Given the description of an element on the screen output the (x, y) to click on. 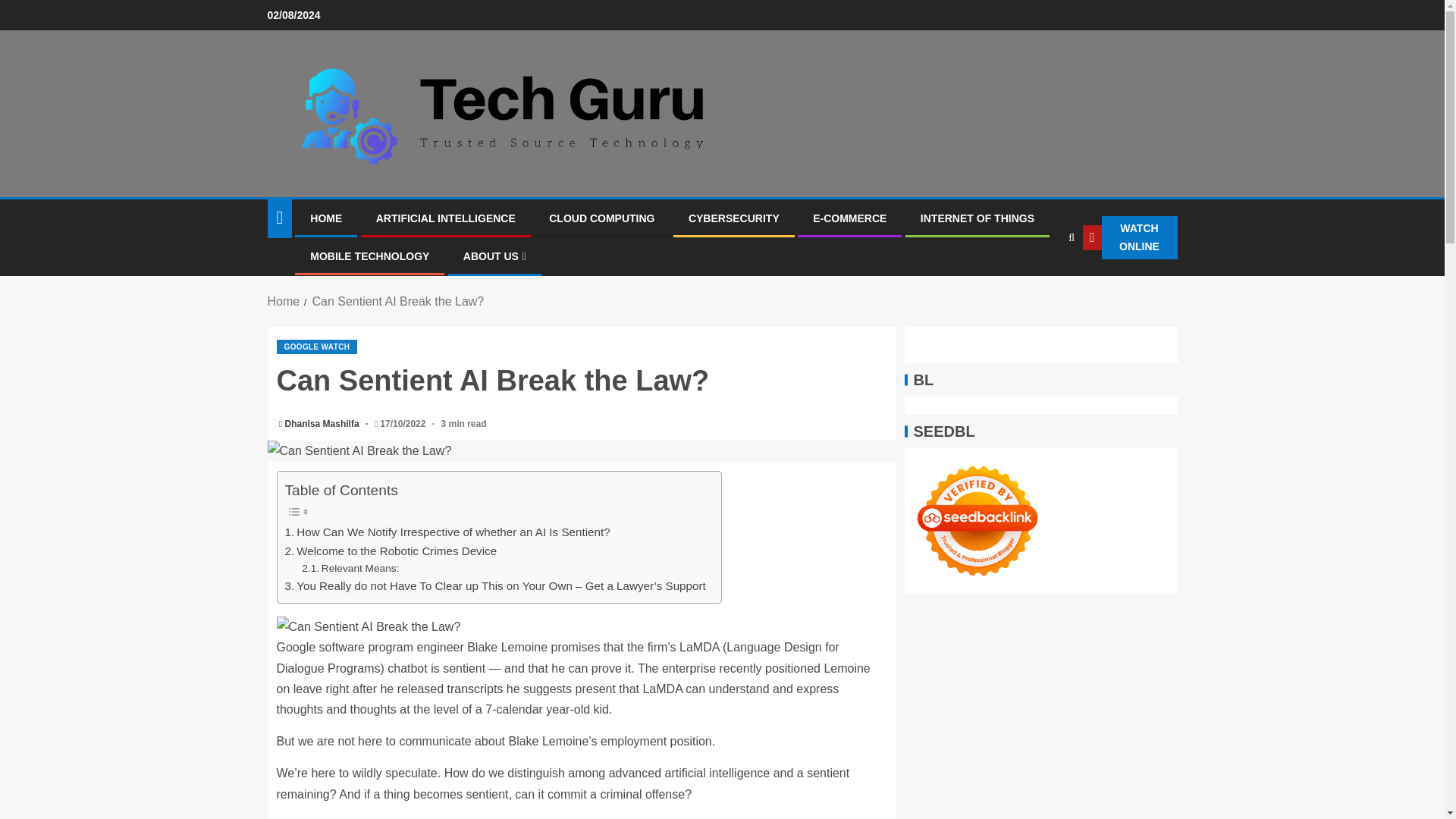
Search (1039, 284)
Relevant Means: (349, 568)
How Can We Notify Irrespective of whether an AI Is Sentient? (447, 532)
Can Sentient AI Break the Law? (580, 450)
Seedbacklink (976, 520)
ARTIFICIAL INTELLIGENCE (445, 218)
HOME (326, 218)
MOBILE TECHNOLOGY (369, 256)
Relevant Means: (349, 568)
Welcome to the Robotic Crimes Device (391, 551)
WATCH ONLINE (1130, 238)
CYBERSECURITY (733, 218)
GOOGLE WATCH (316, 346)
Welcome to the Robotic Crimes Device (391, 551)
Dhanisa Mashilfa (323, 423)
